Given the description of an element on the screen output the (x, y) to click on. 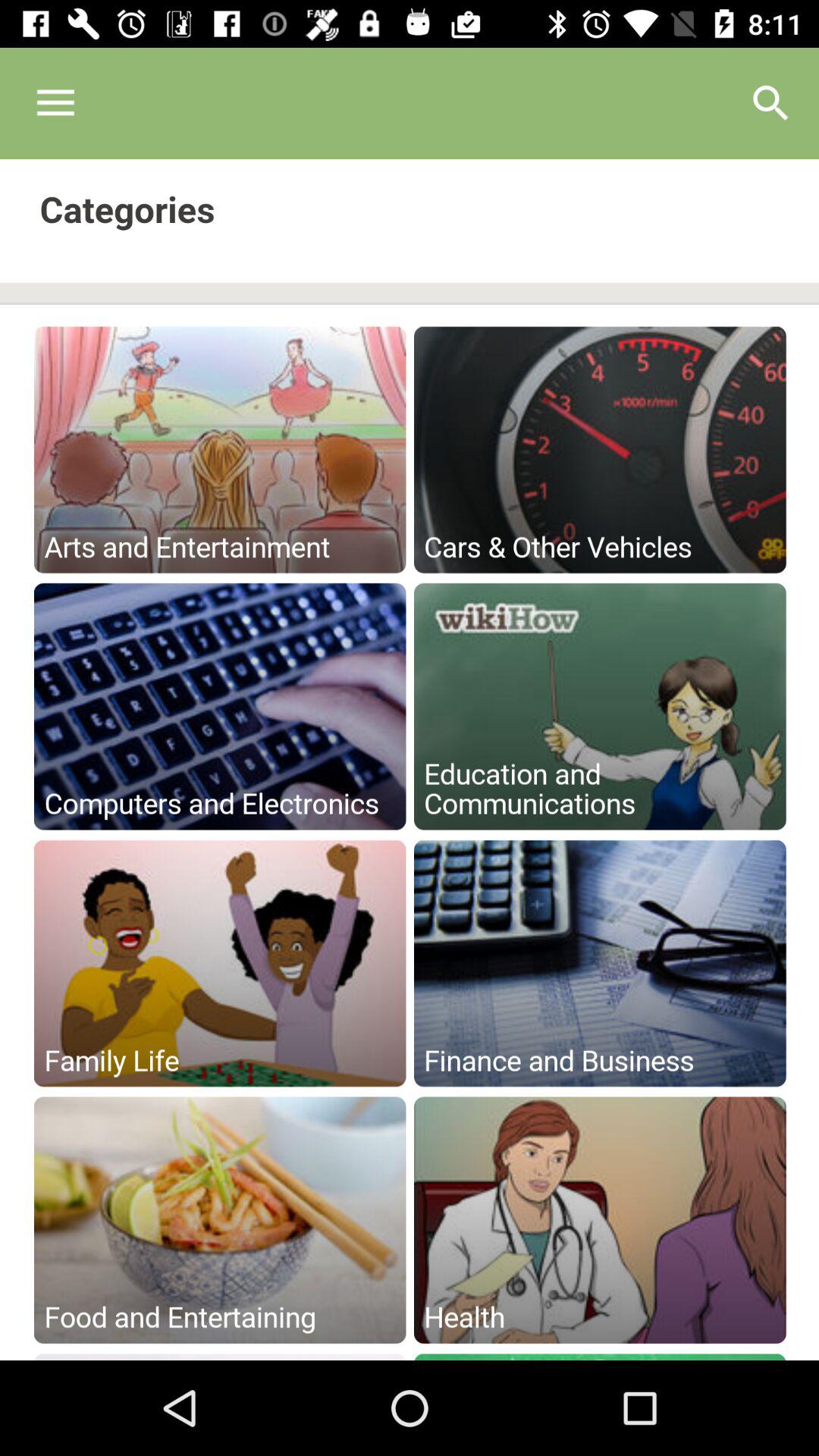
advertisement (409, 759)
